Given the description of an element on the screen output the (x, y) to click on. 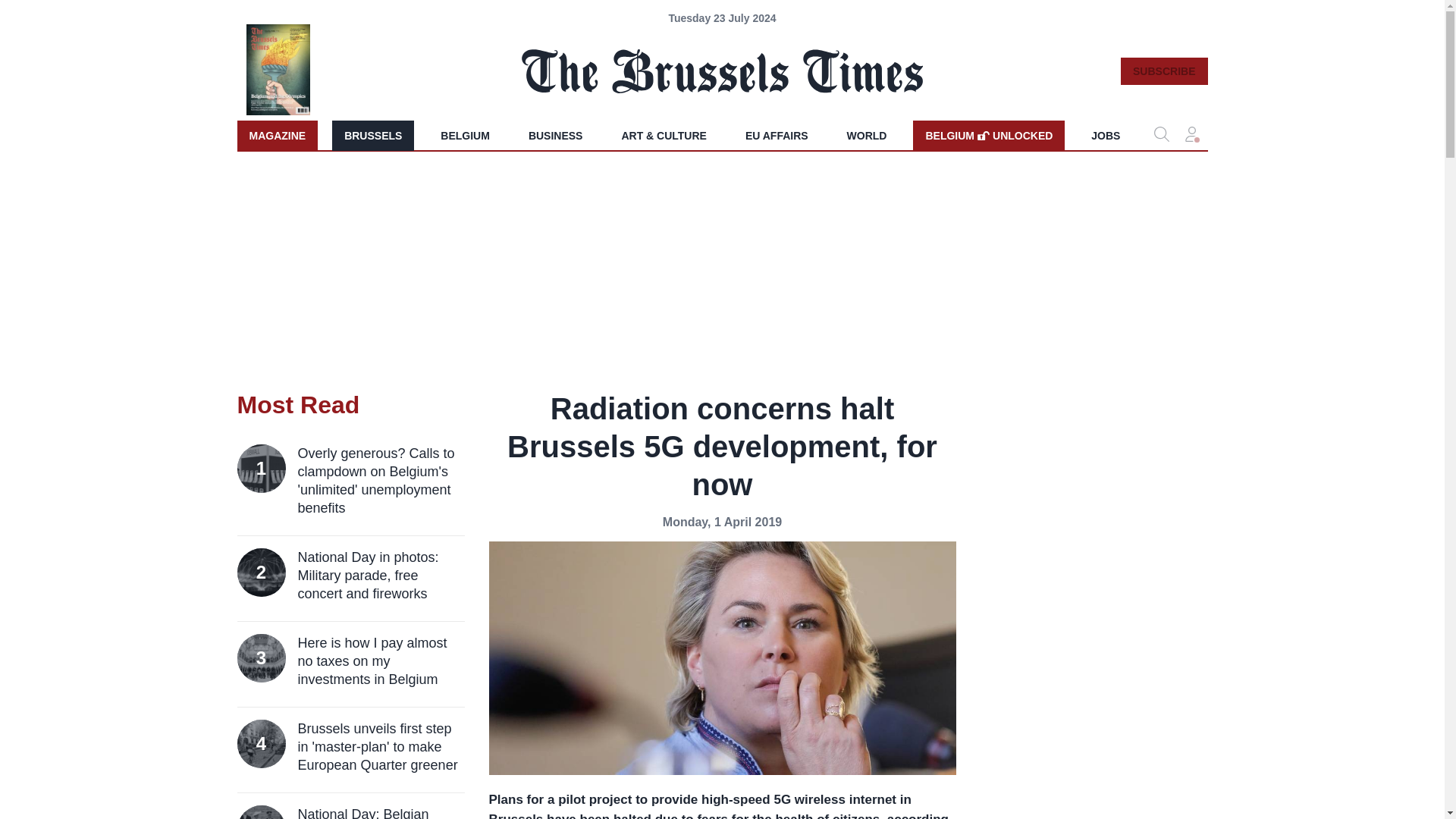
SUBSCRIBE (1164, 71)
BUSINESS (555, 135)
WORLD (866, 135)
BRUSSELS (372, 135)
BELGIUM (465, 135)
JOBS (1105, 135)
EU AFFAIRS (777, 135)
MAGAZINE (276, 135)
